Given the description of an element on the screen output the (x, y) to click on. 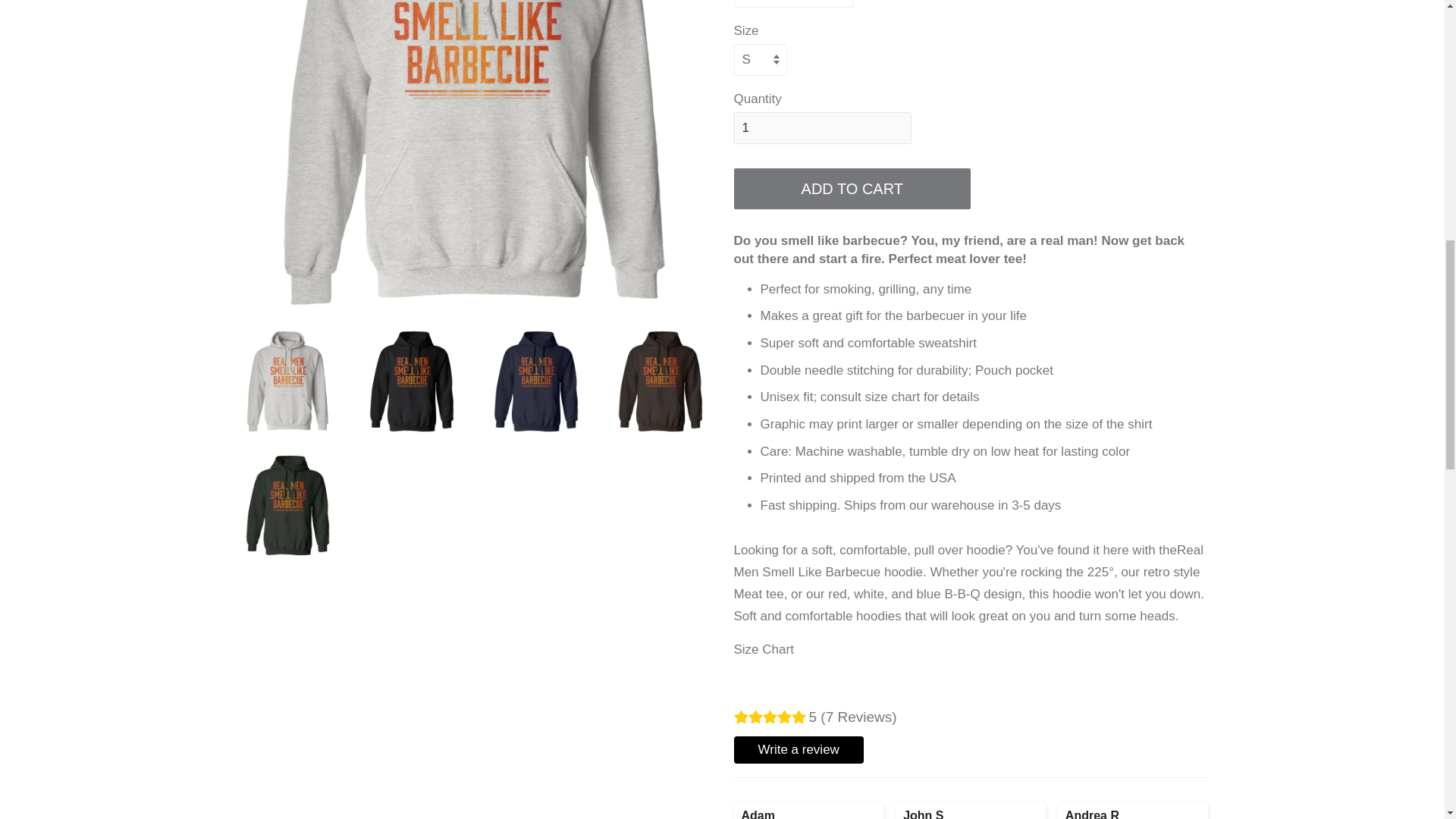
1 (822, 128)
